Given the description of an element on the screen output the (x, y) to click on. 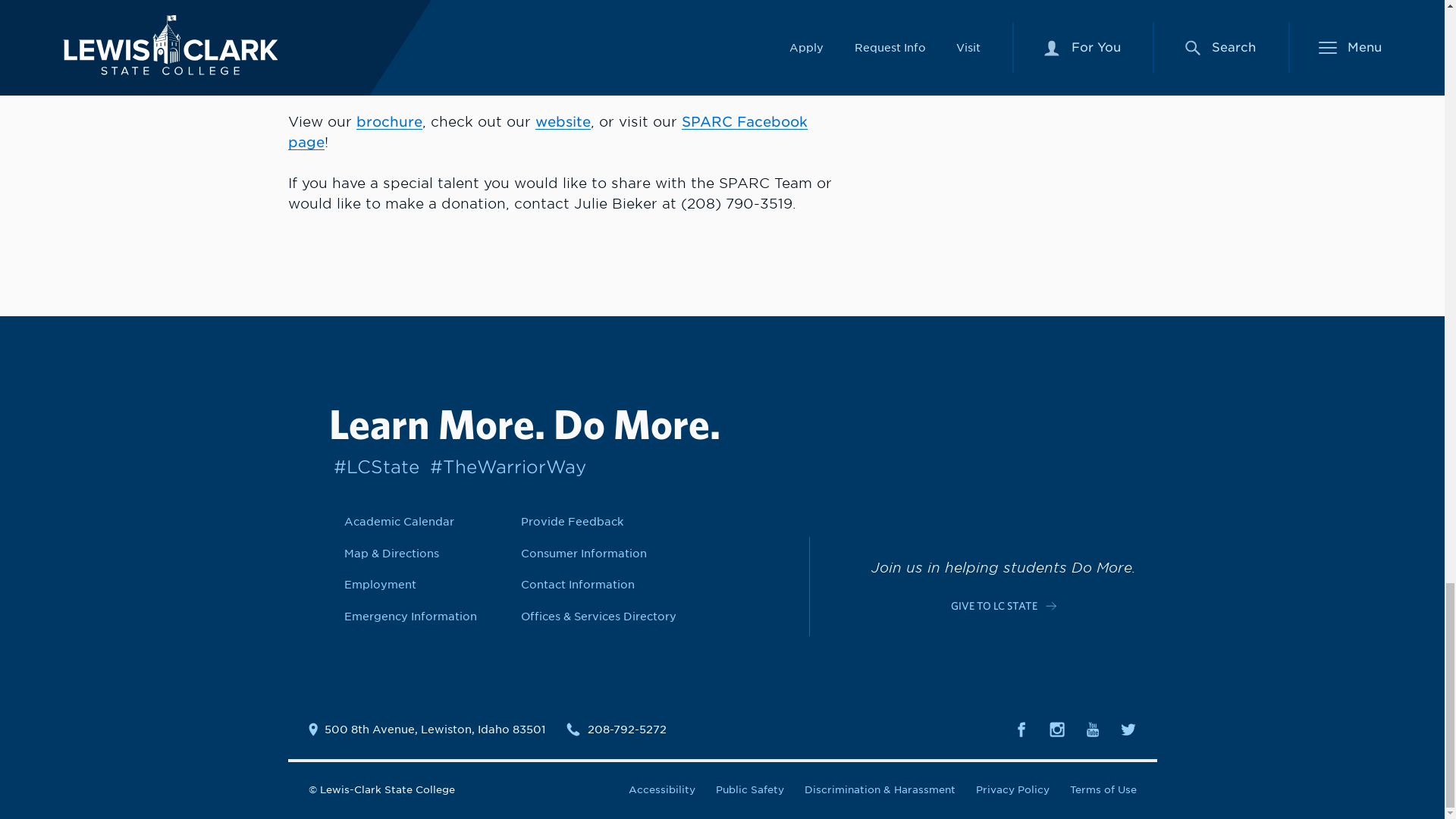
instagram--solid (1056, 729)
calls--solid (572, 729)
twitter--solid (1128, 729)
SPARC Brochure 2017 (389, 121)
pin--solid (312, 729)
youtube--solid (1092, 729)
facebook--solid (1020, 729)
ARROW-RIGHT--LINE (1051, 605)
